Given the description of an element on the screen output the (x, y) to click on. 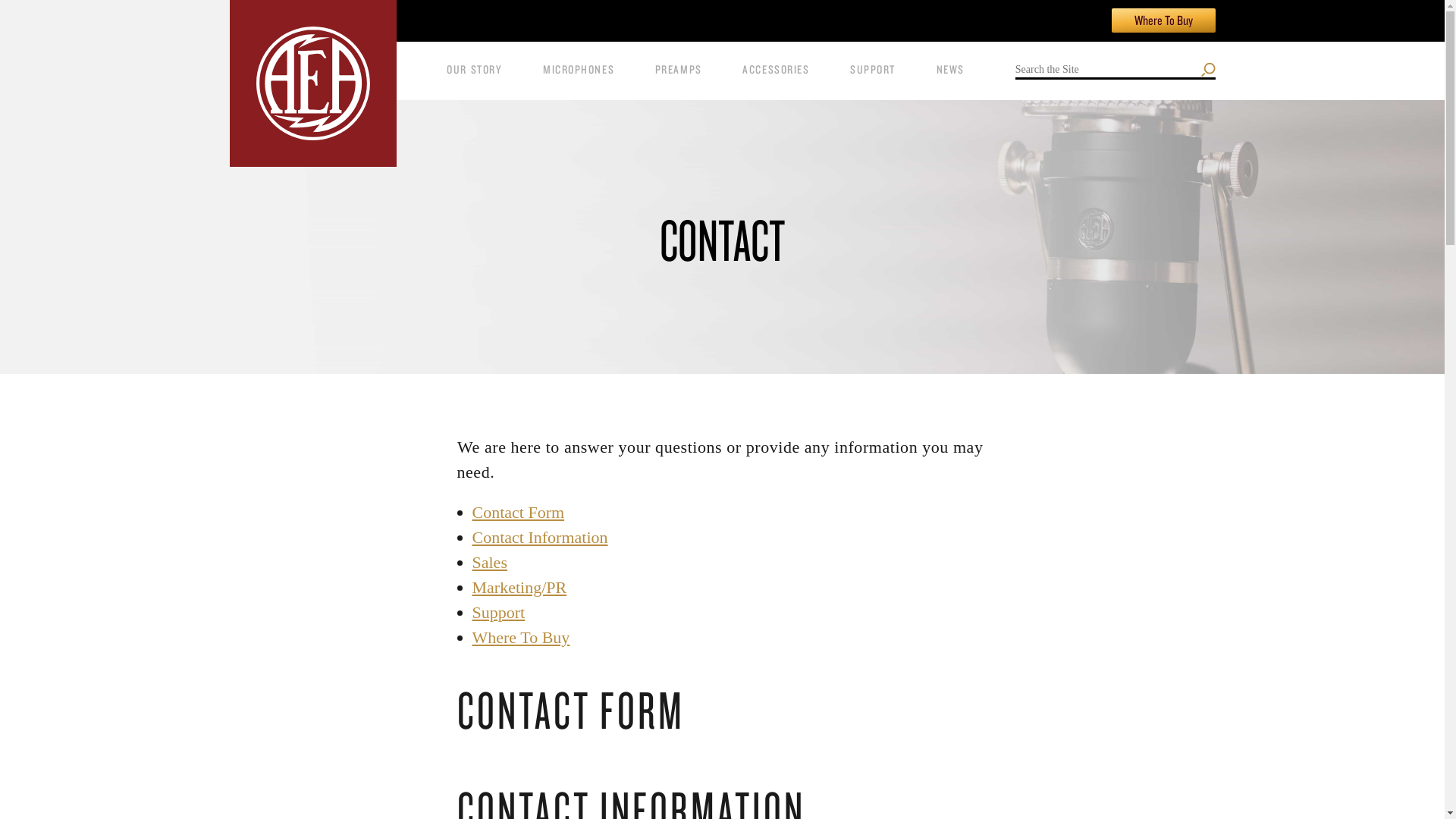
Where To Buy (520, 637)
ACCESSORIES (775, 70)
OUR STORY (474, 70)
Contact Form (517, 511)
Contact Information (539, 537)
Where To Buy (1163, 20)
MICROPHONES (578, 70)
SUPPORT (872, 70)
Support (497, 611)
PREAMPS (678, 70)
Sales (488, 561)
NEWS (950, 70)
